Given the description of an element on the screen output the (x, y) to click on. 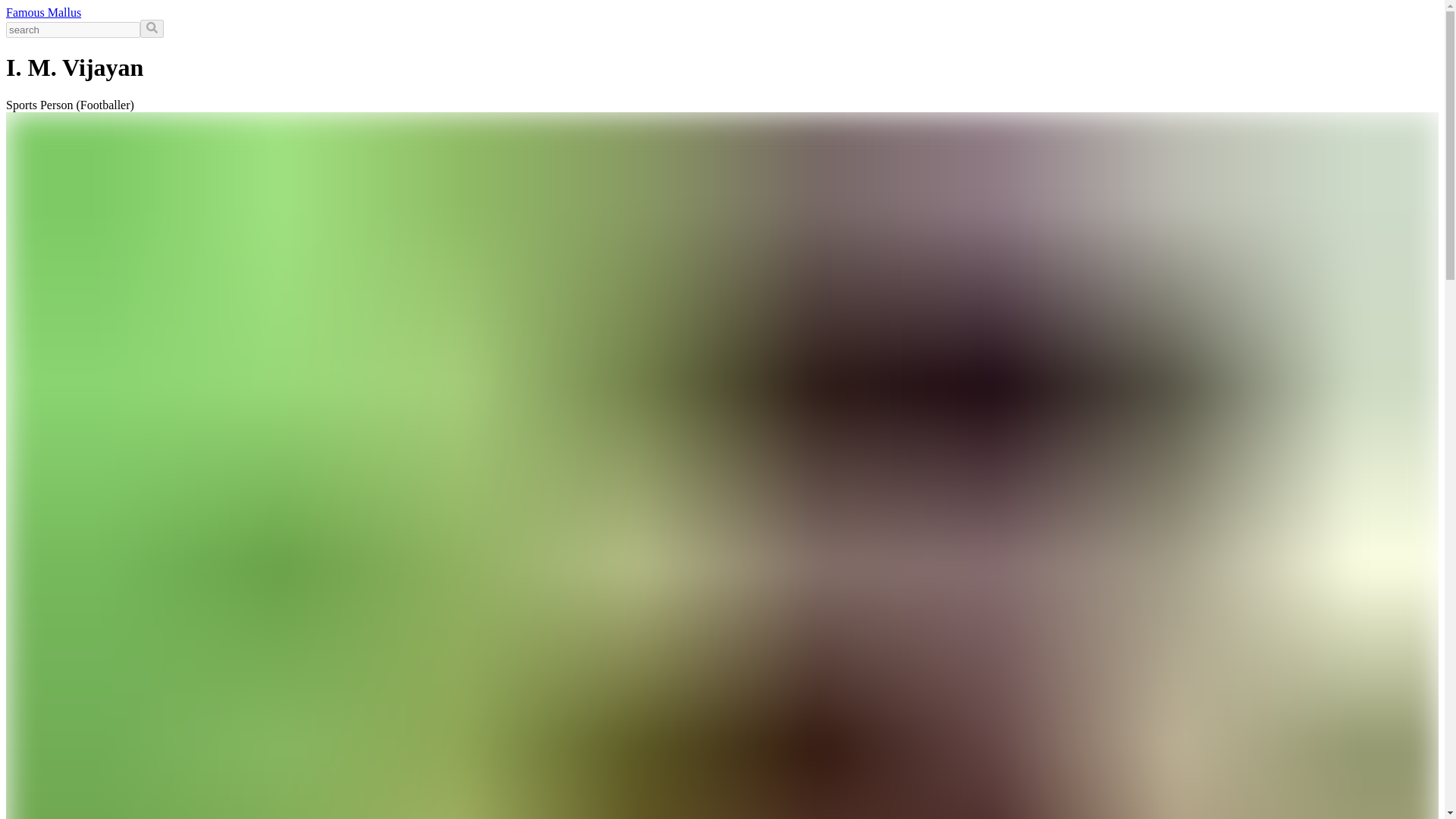
Famous Mallus (43, 11)
